Given the description of an element on the screen output the (x, y) to click on. 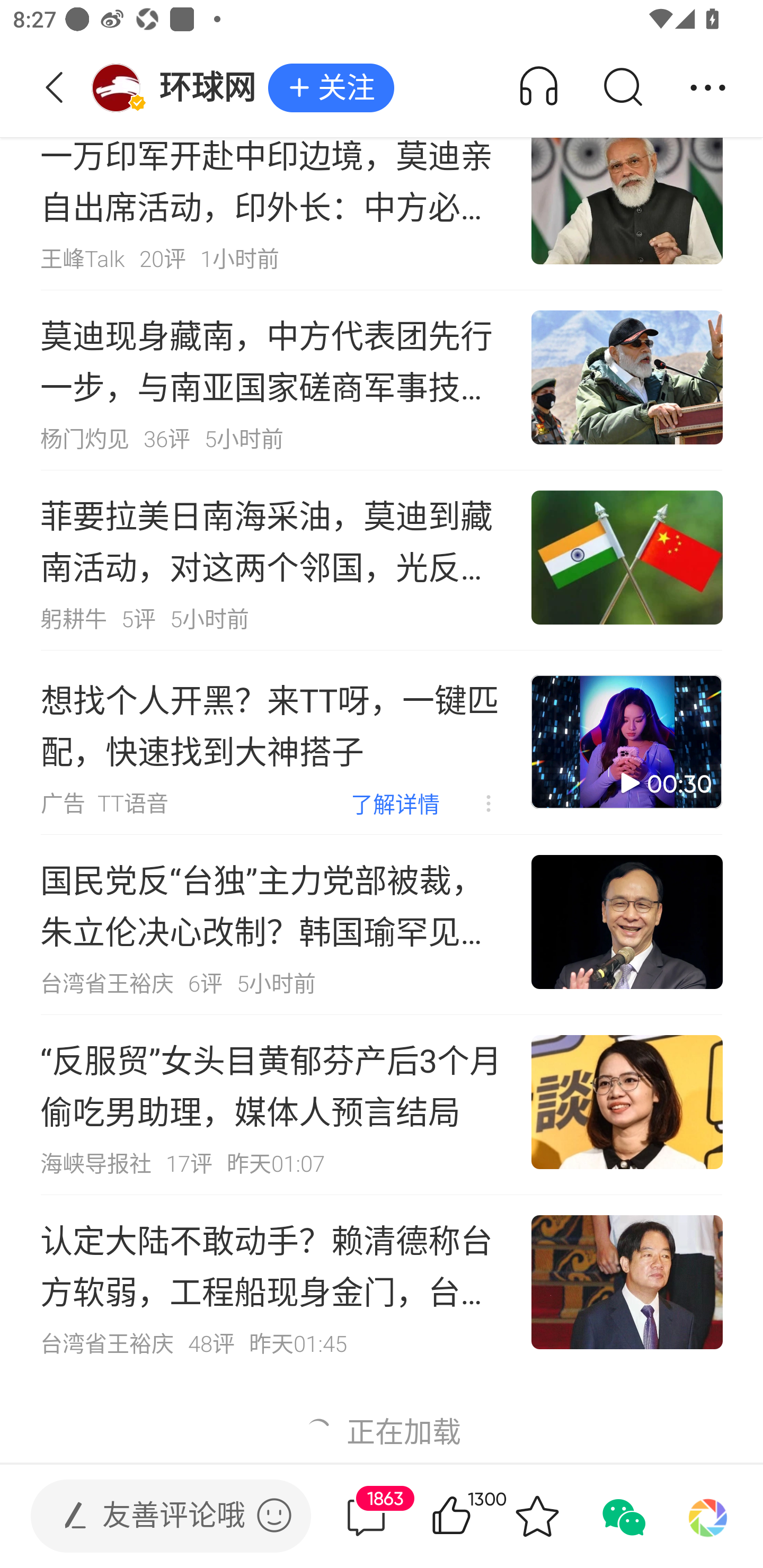
环球网 (179, 87)
搜索  (622, 87)
分享  (707, 87)
 返回 (54, 87)
 关注 (330, 88)
一万印军开赴中印边境，莫迪亲自出席活动，印外长：中方必须遵守承诺 王峰Talk 20评 1小时前 (381, 199)
莫迪现身藏南，中方代表团先行一步，与南亚国家磋商军事技术合作 杨门灼见 36评 5小时前 (381, 380)
菲要拉美日南海采油，莫迪到藏南活动，对这两个邻国，光反对恐怕没用 躬耕牛 5评 5小时前 (381, 560)
 不感兴趣 (474, 803)
了解详情 (394, 803)
国民党反“台独”主力党部被裁，朱立伦决心改制？韩国瑜罕见表态 台湾省王裕庆 6评 5小时前 (381, 924)
“反服贸”女头目黄郁芬产后3个月偷吃男助理，媒体人预言结局 海峡导报社 17评 昨天01:07 (381, 1104)
认定大陆不敢动手？赖清德称台方软弱，工程船现身金门，台军表态 台湾省王裕庆 48评 昨天01:45 (381, 1284)
正在加载 (381, 1422)
发表评论  友善评论哦 发表评论  (155, 1516)
1863评论  1863 评论 (365, 1516)
1300赞 (476, 1516)
收藏  (536, 1516)
分享到微信  (622, 1516)
分享到朋友圈 (707, 1516)
 (274, 1515)
